Given the description of an element on the screen output the (x, y) to click on. 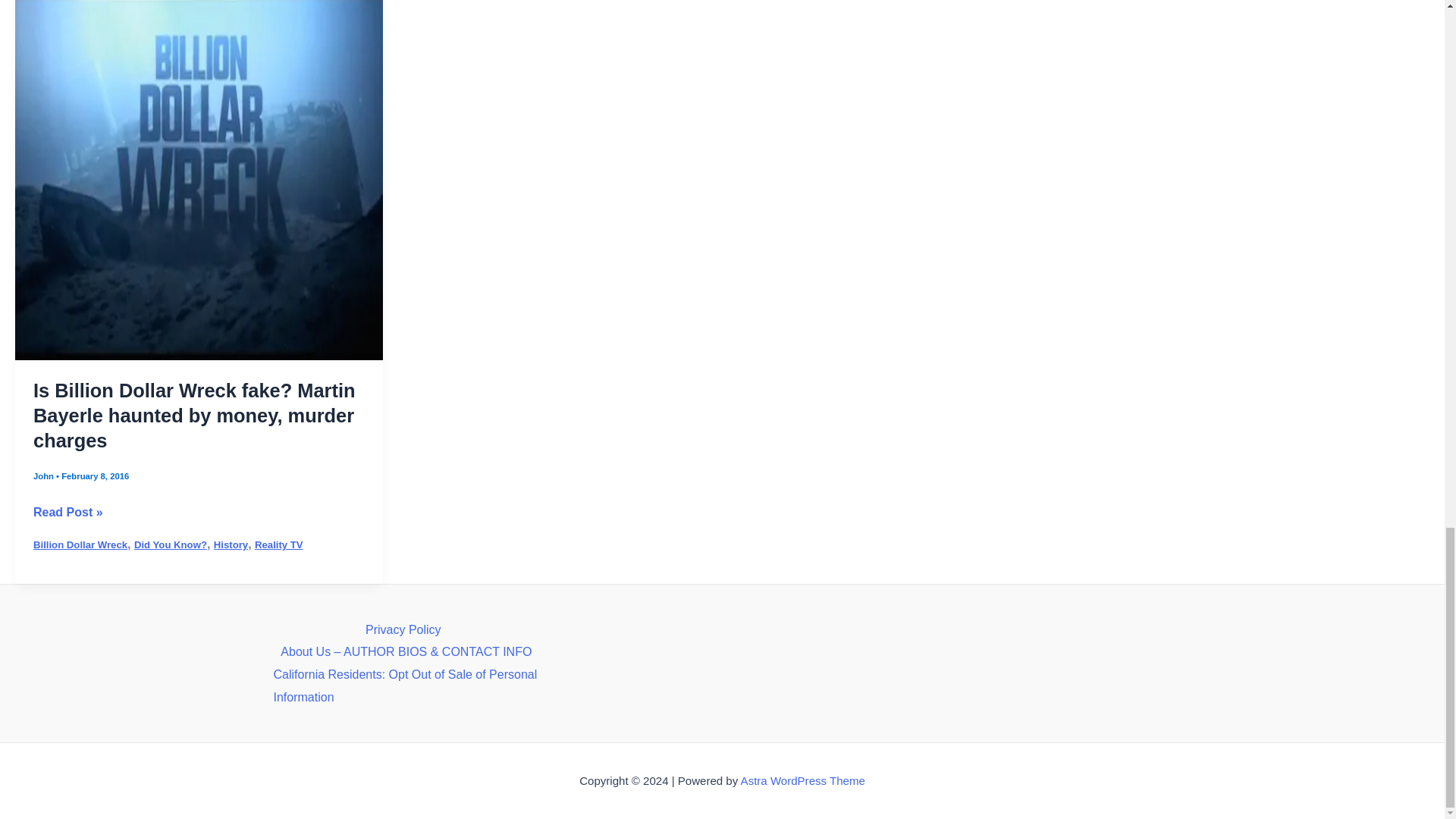
View all posts by John (44, 481)
